Given the description of an element on the screen output the (x, y) to click on. 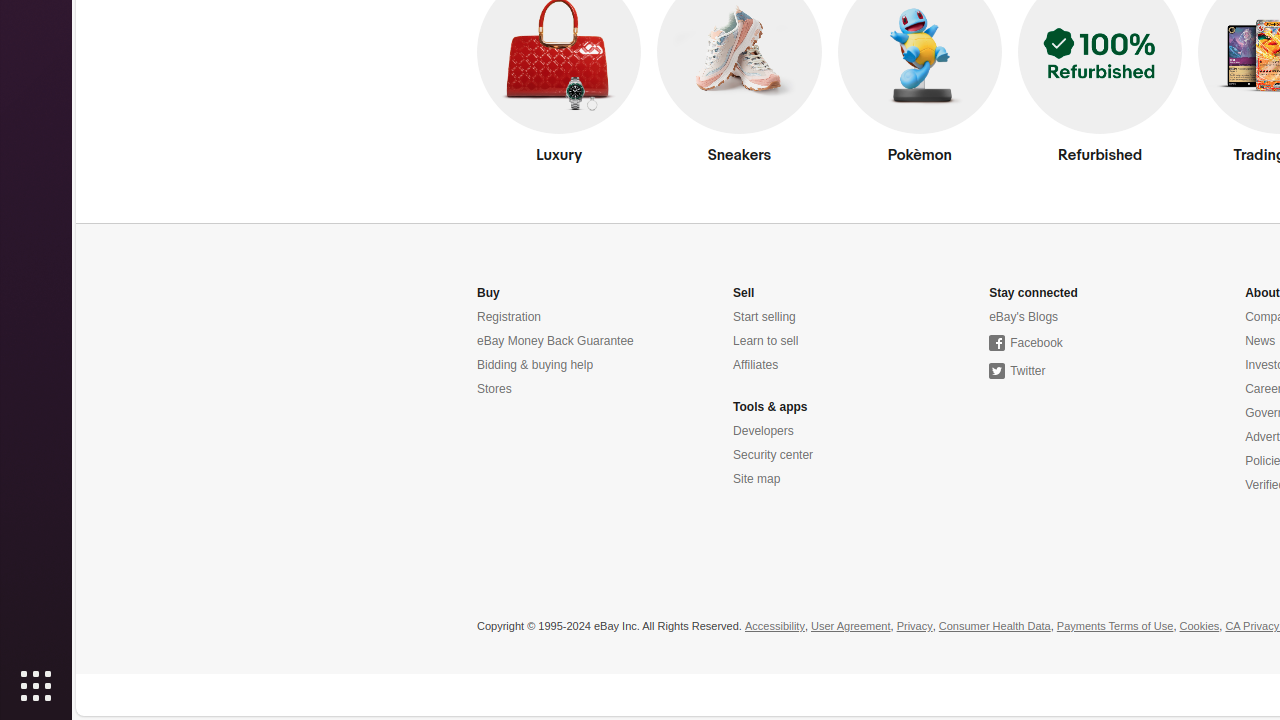
Security center Element type: link (773, 455)
Facebook Element type: link (1026, 343)
Affiliates Element type: link (756, 365)
Accessibility Element type: link (774, 627)
Developers Element type: link (763, 431)
